Given the description of an element on the screen output the (x, y) to click on. 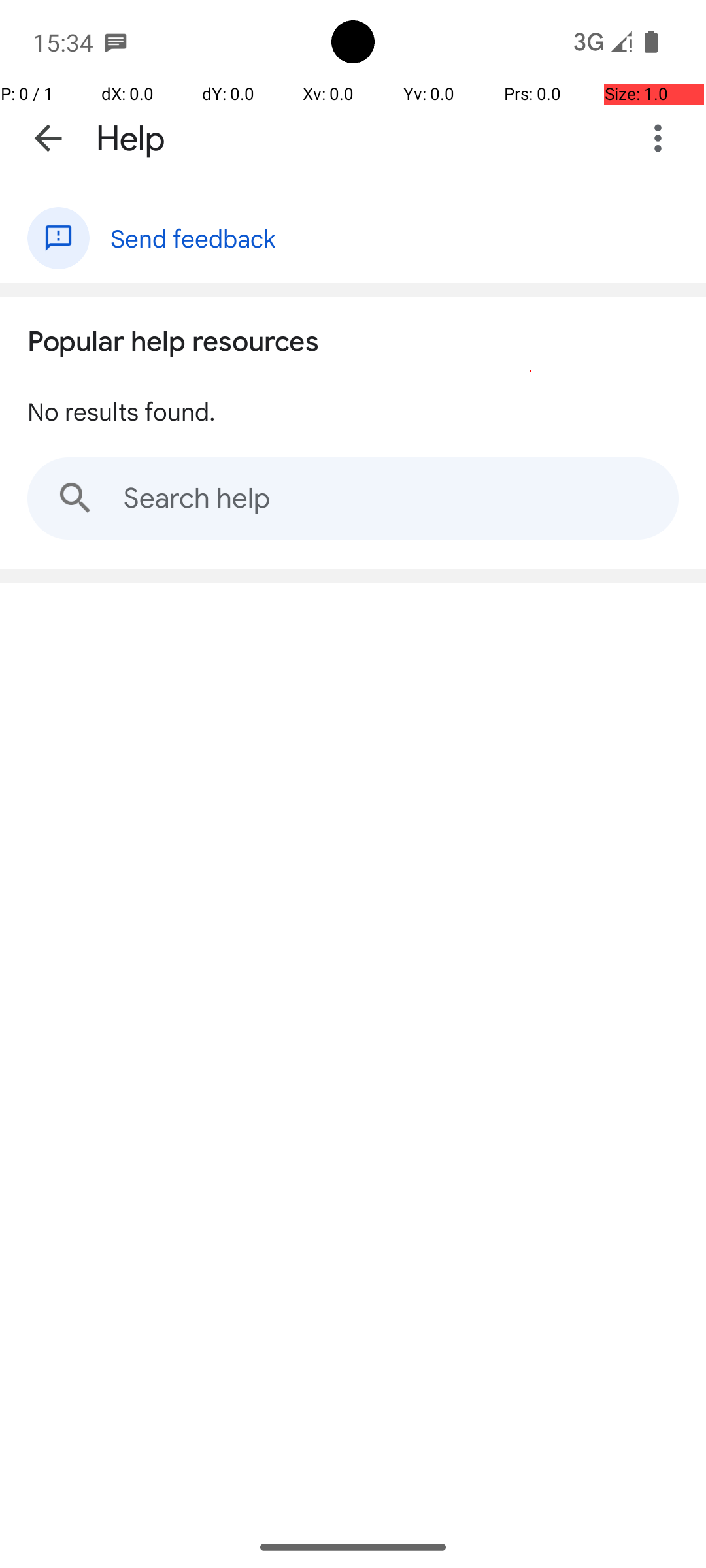
Popular help resources Element type: android.widget.TextView (173, 338)
Search help Element type: androidx.cardview.widget.CardView (352, 498)
No results found. Element type: android.widget.TextView (121, 410)
